Given the description of an element on the screen output the (x, y) to click on. 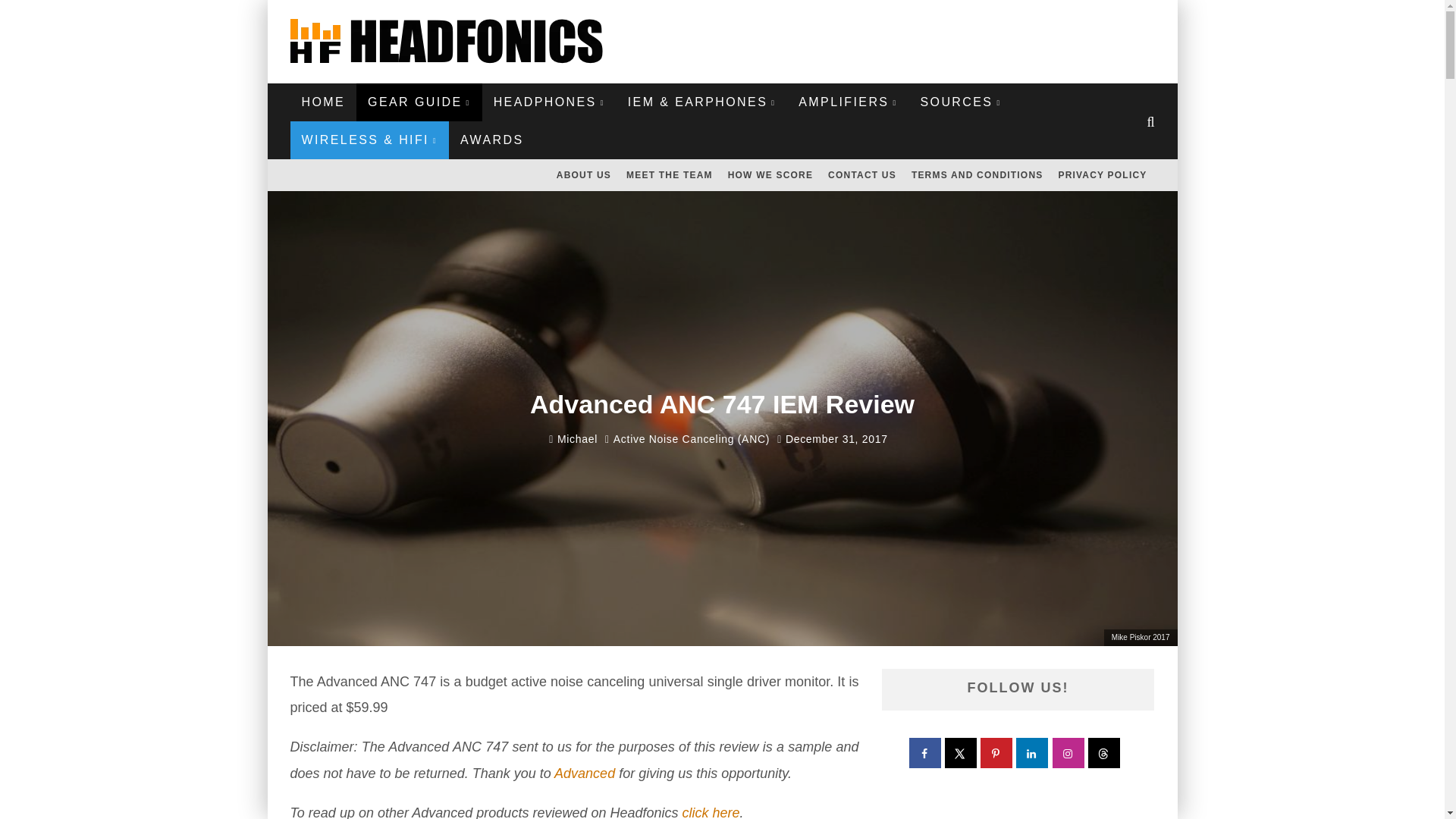
HEADPHONES (548, 102)
HOME (322, 102)
GEAR GUIDE (418, 102)
AMPLIFIERS (847, 102)
